Given the description of an element on the screen output the (x, y) to click on. 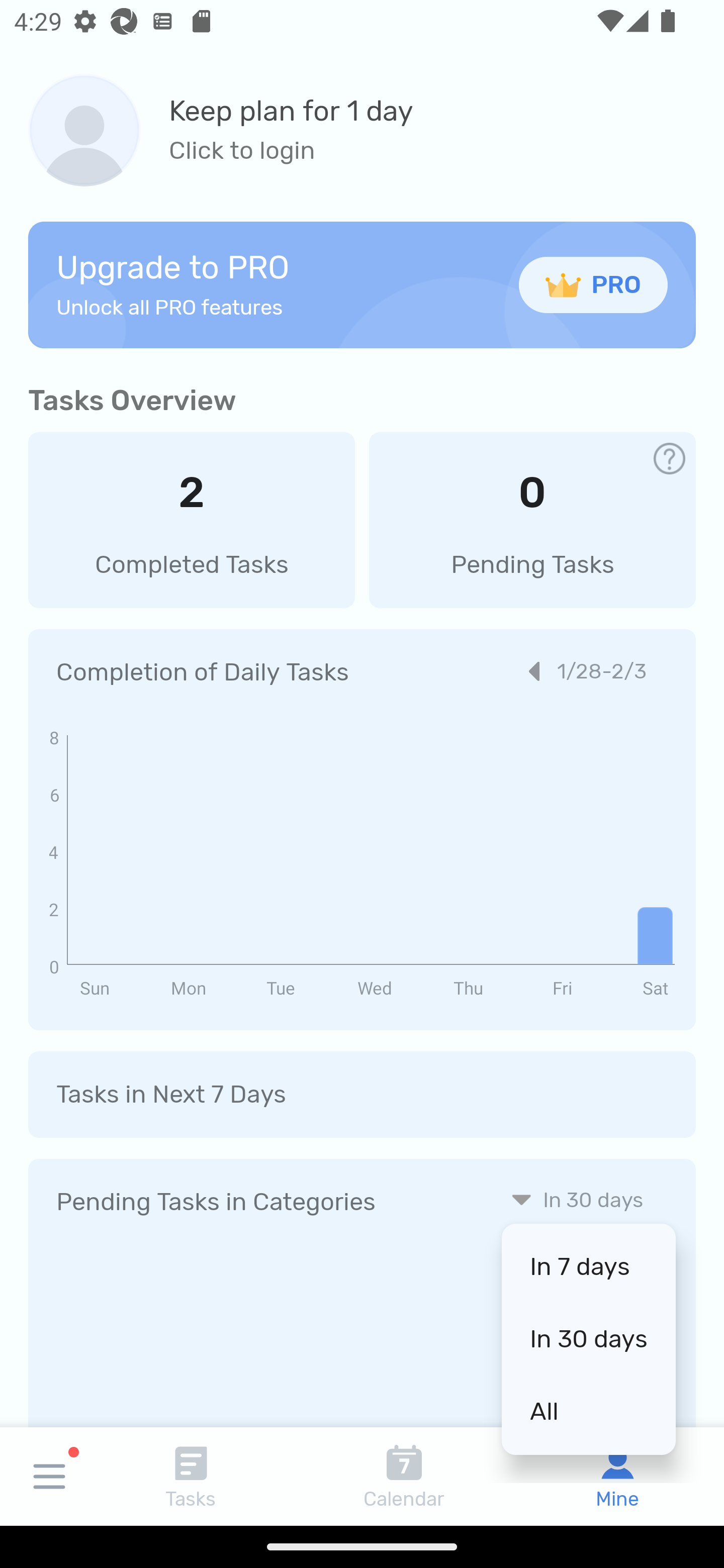
In 7 days (588, 1266)
In 30 days (588, 1339)
All (588, 1411)
